Given the description of an element on the screen output the (x, y) to click on. 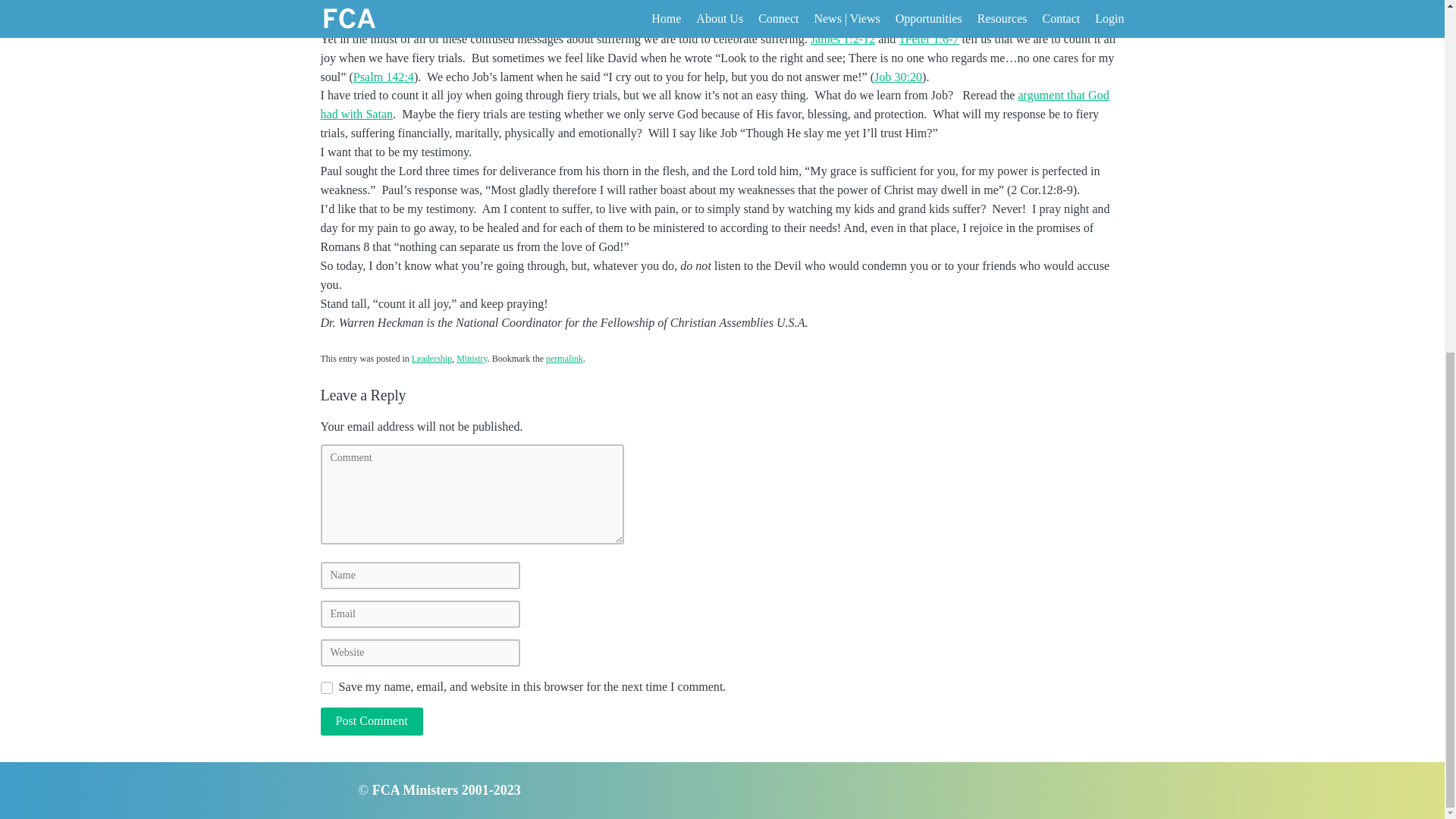
Post Comment (371, 720)
Permalink to A Theology of Suffering (564, 357)
yes (325, 687)
